Given the description of an element on the screen output the (x, y) to click on. 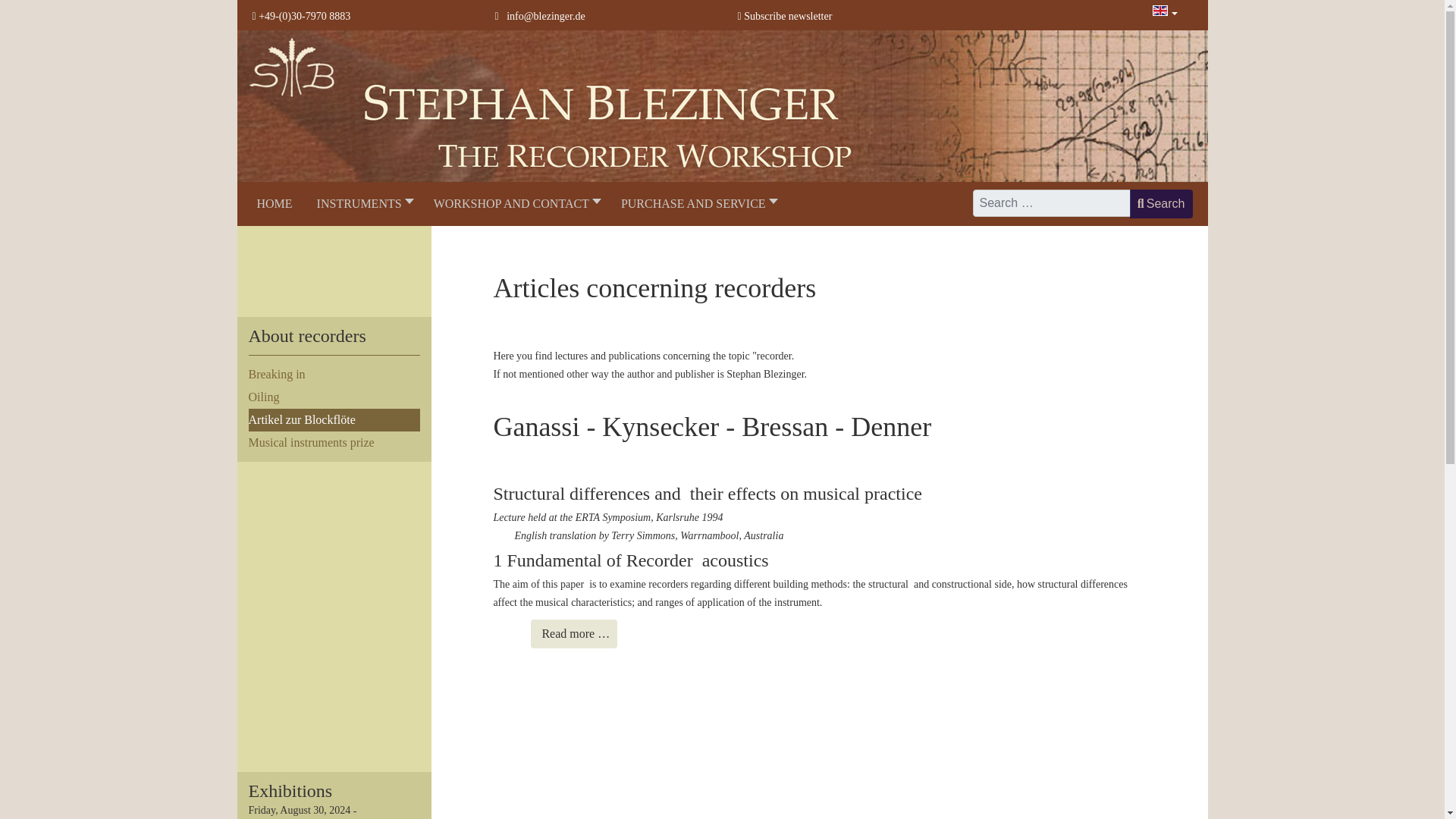
HOME (273, 203)
 Subscribe newsletter (783, 16)
